Given the description of an element on the screen output the (x, y) to click on. 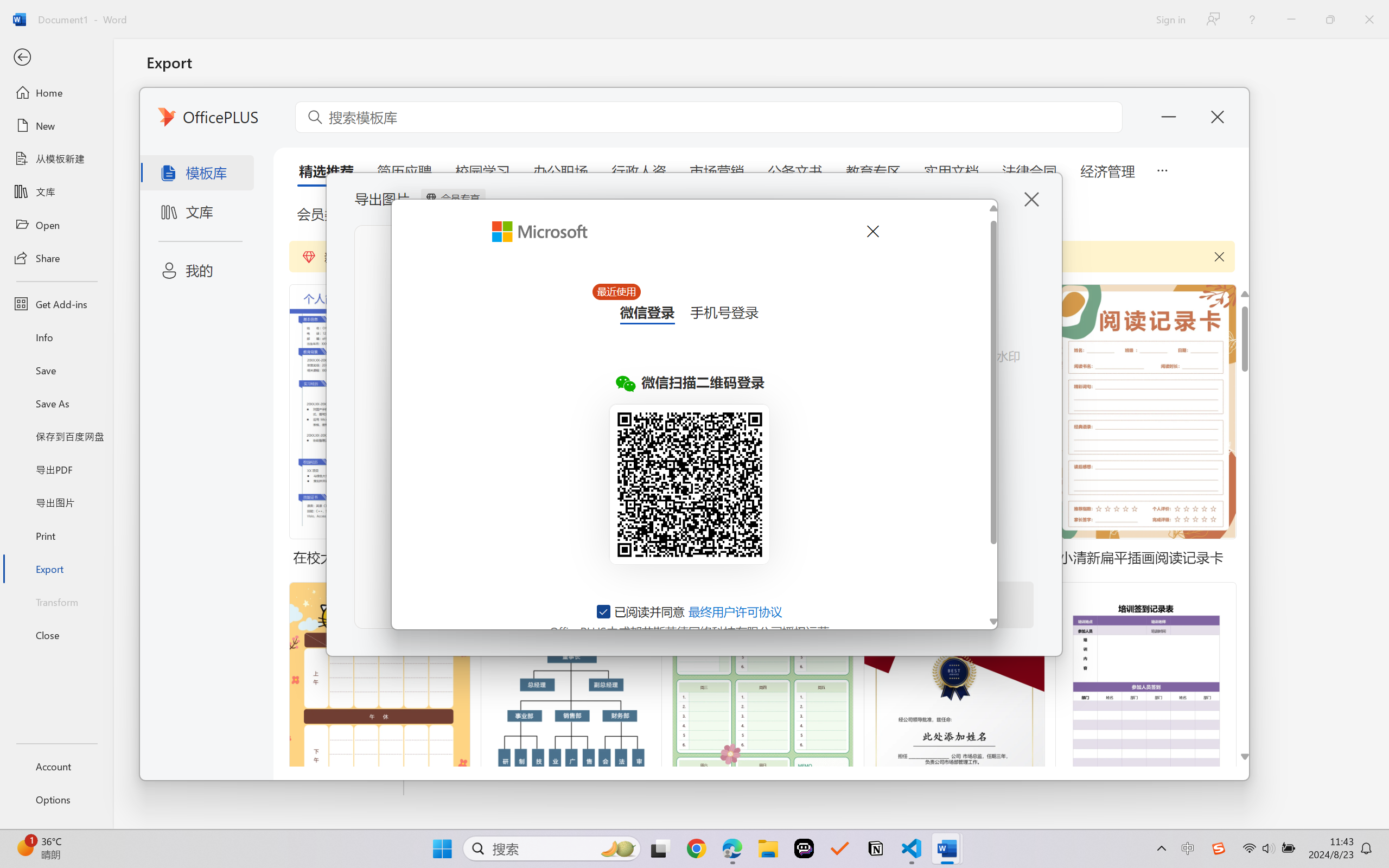
Save As (56, 403)
Create PDF/XPS Document (275, 110)
Cancel (872, 230)
